Given the description of an element on the screen output the (x, y) to click on. 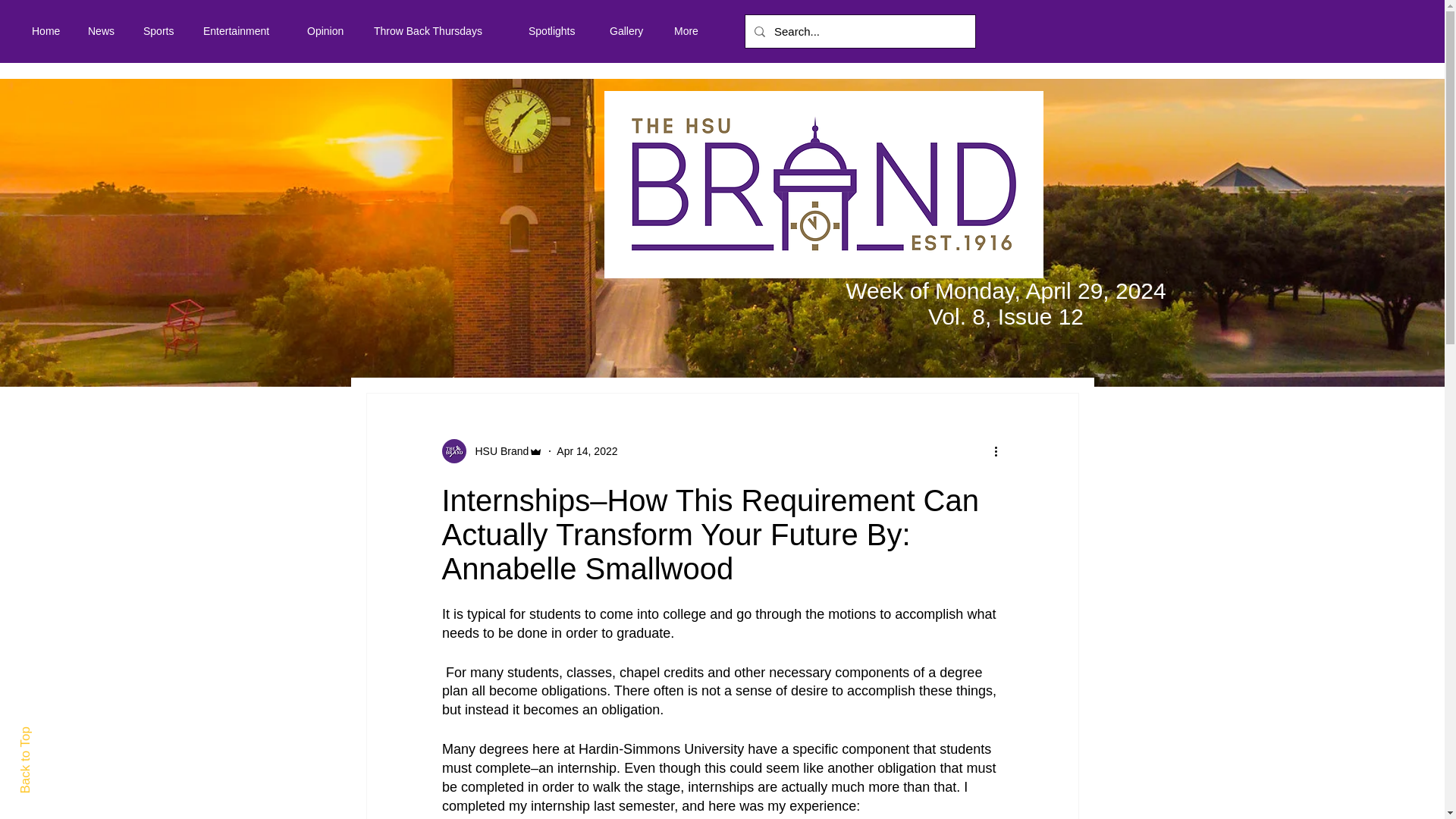
Spotlights (557, 30)
Gallery (630, 30)
Home (48, 30)
BrandLogo.png (823, 184)
News (104, 30)
Back to Top (51, 733)
Throw Back Thursdays (439, 30)
HSU Brand (496, 450)
Apr 14, 2022 (586, 450)
Entertainment (243, 30)
